Given the description of an element on the screen output the (x, y) to click on. 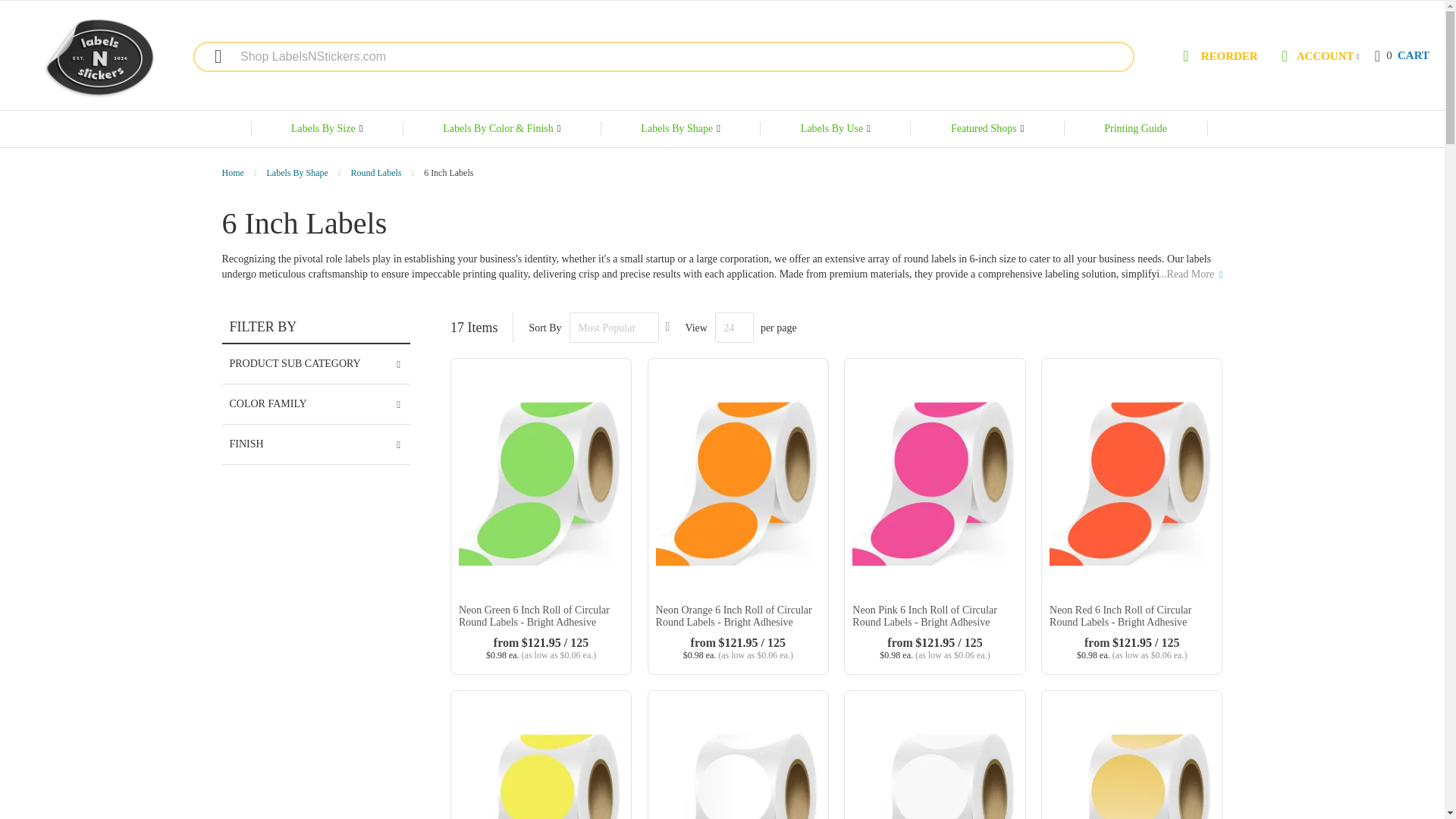
Set Descending Direction (667, 326)
Search (210, 56)
Labels By Size (326, 128)
Search (210, 56)
REORDER (1217, 57)
CHANGE (1357, 56)
Reorder (1217, 57)
Go to Home Page (233, 172)
Labels N Stickers logo (1401, 56)
